Given the description of an element on the screen output the (x, y) to click on. 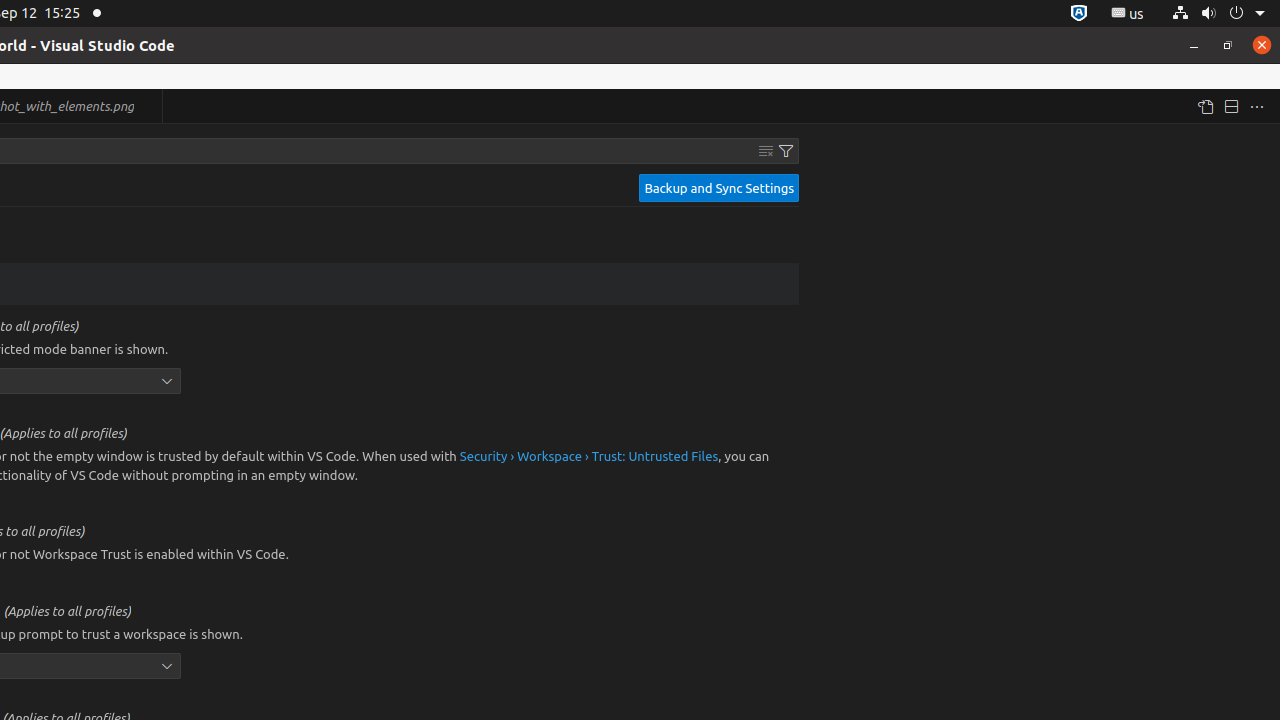
Backup and Sync Settings Element type: push-button (719, 188)
Clear Settings Search Input Element type: push-button (766, 151)
Security › Workspace › Trust: Untrusted Files Element type: link (589, 456)
More Actions... Element type: push-button (1257, 106)
